Given the description of an element on the screen output the (x, y) to click on. 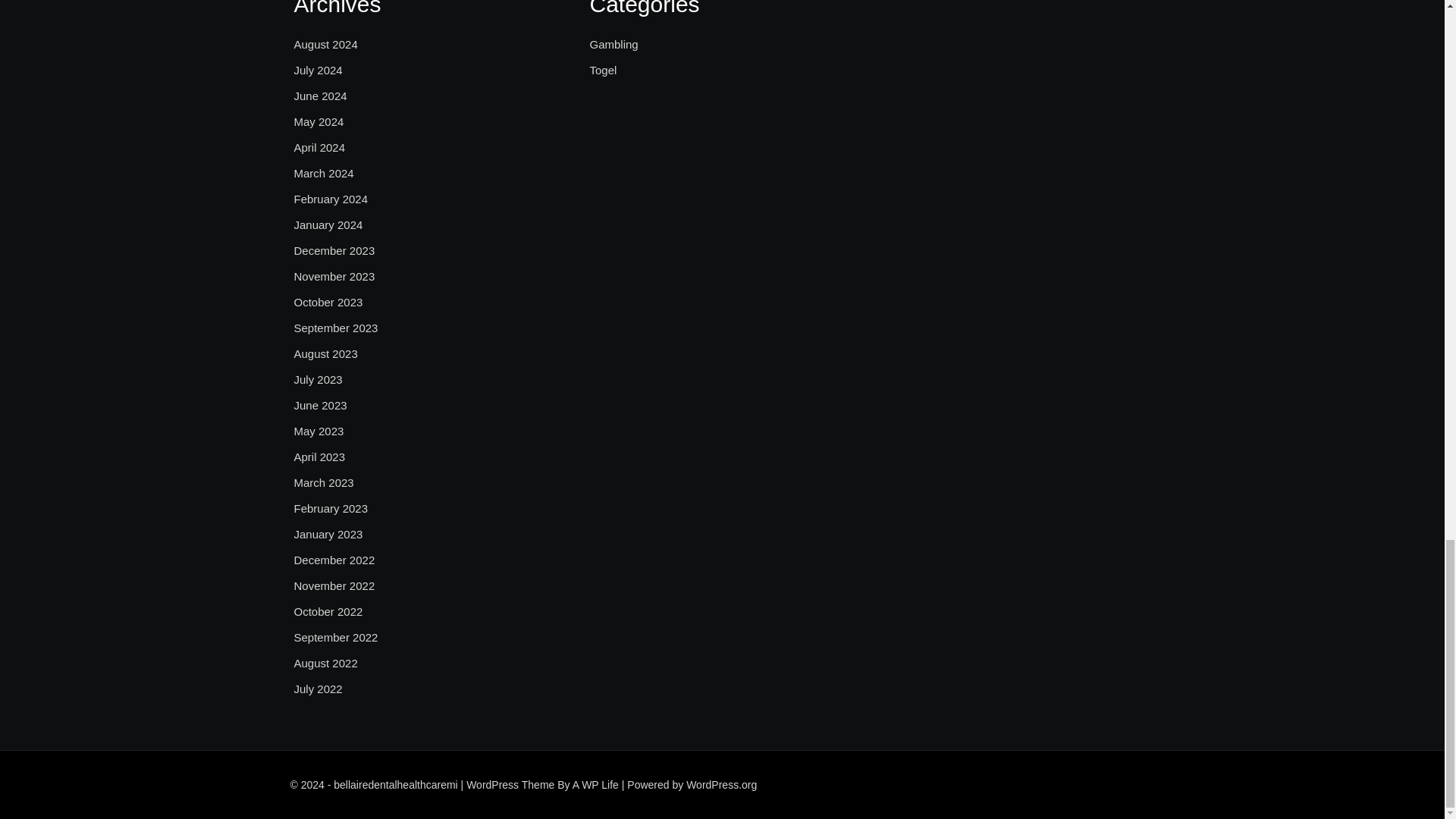
May 2024 (318, 122)
February 2024 (331, 199)
September 2023 (336, 328)
October 2022 (328, 611)
April 2024 (320, 147)
November 2022 (334, 586)
March 2023 (323, 483)
February 2023 (331, 508)
January 2023 (328, 534)
June 2024 (320, 95)
July 2024 (318, 70)
August 2023 (326, 353)
July 2023 (318, 380)
January 2024 (328, 225)
October 2023 (328, 302)
